Given the description of an element on the screen output the (x, y) to click on. 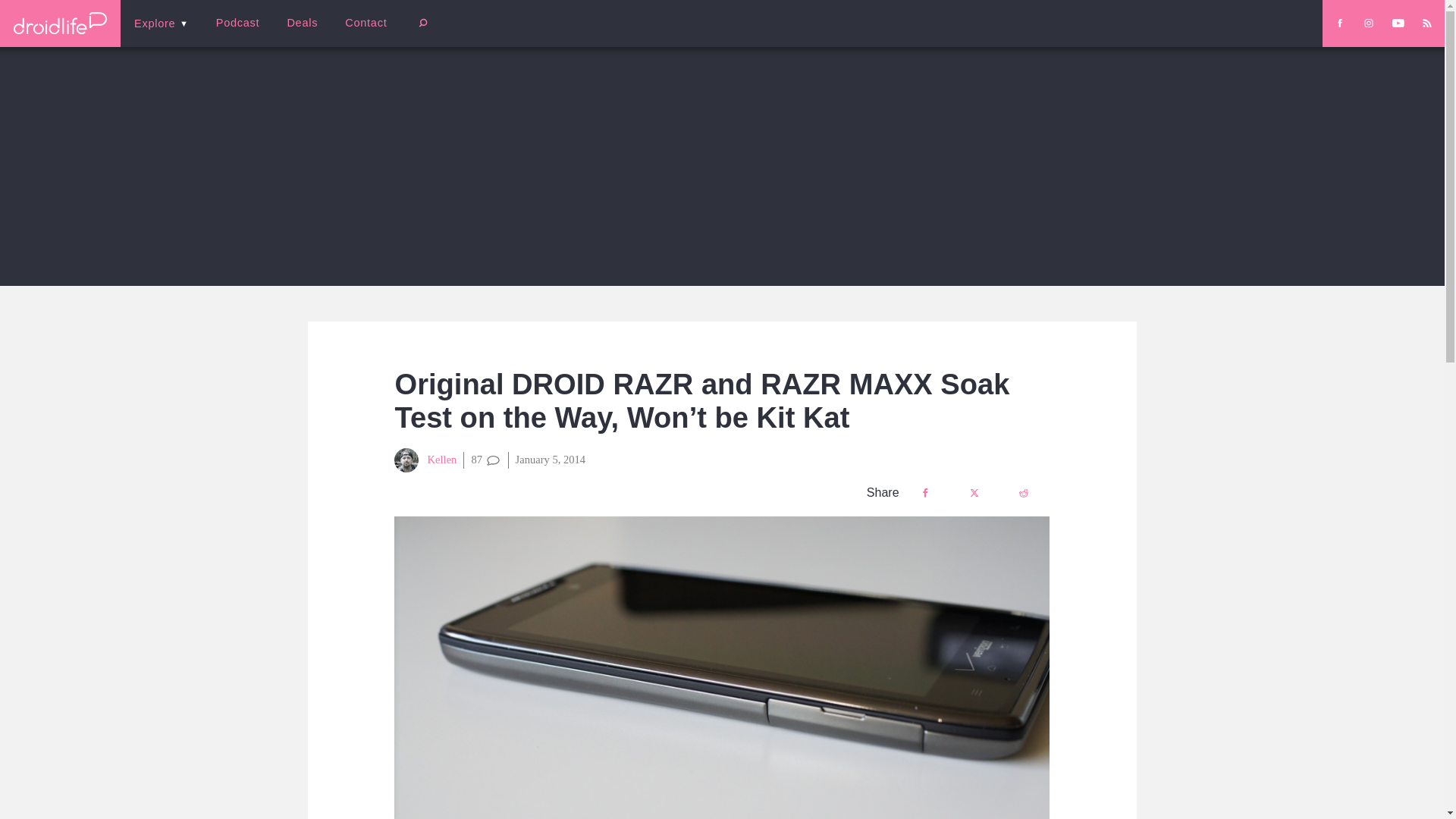
Droid Life on YouTube (1398, 23)
Droid Life RSS (1426, 23)
Podcast (237, 23)
Beginners' Guide (360, 33)
Contact (365, 23)
Kellen (425, 459)
Explore (161, 23)
Droid Life on Instagram (1368, 23)
Deals (302, 23)
Droid Life on Facebook (1339, 23)
